Given the description of an element on the screen output the (x, y) to click on. 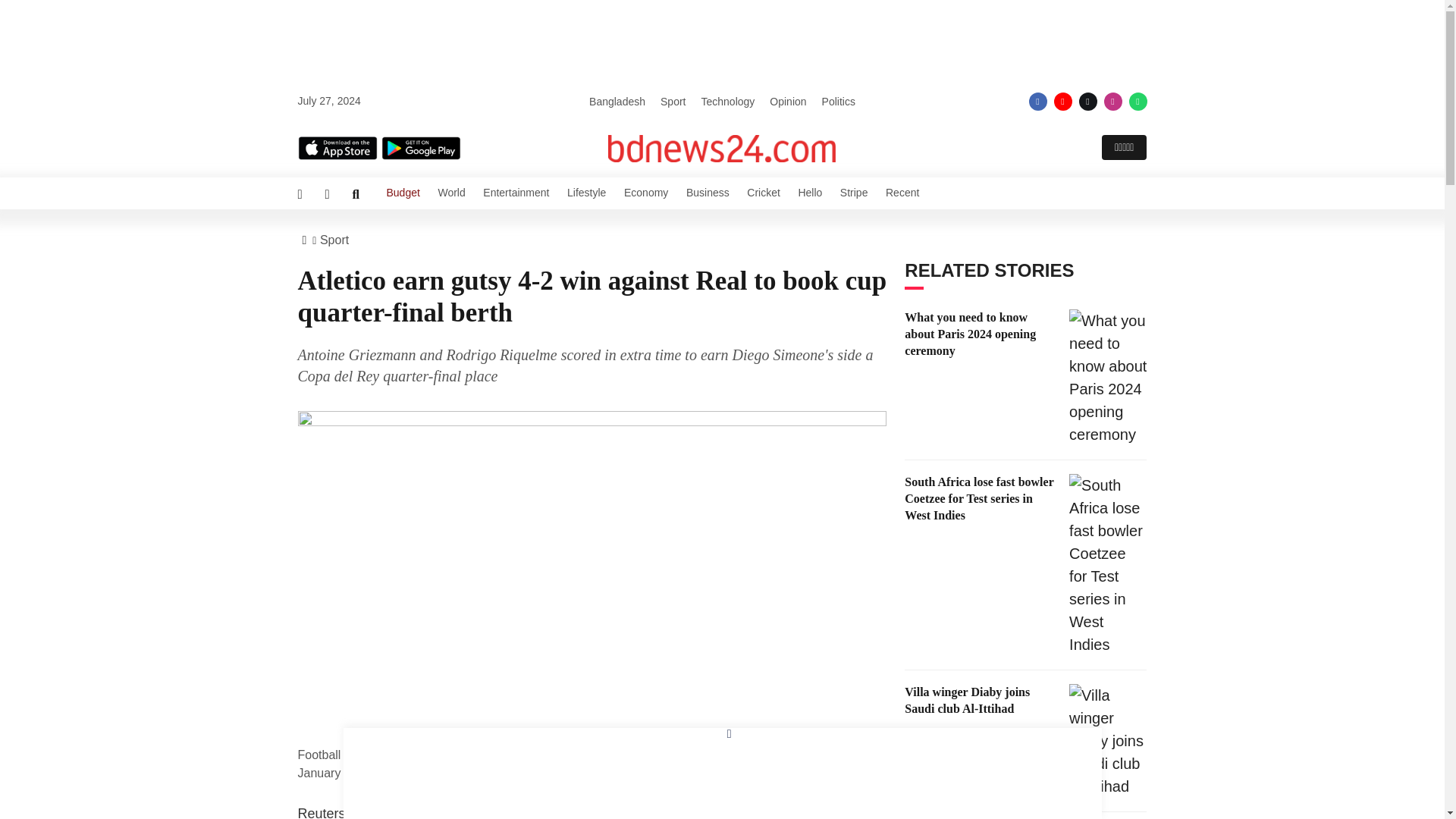
What you need to know about Paris 2024 opening ceremony (1107, 377)
Villa winger Diaby joins Saudi club Al-Ittihad (1107, 740)
bdnews24.com (721, 148)
